Given the description of an element on the screen output the (x, y) to click on. 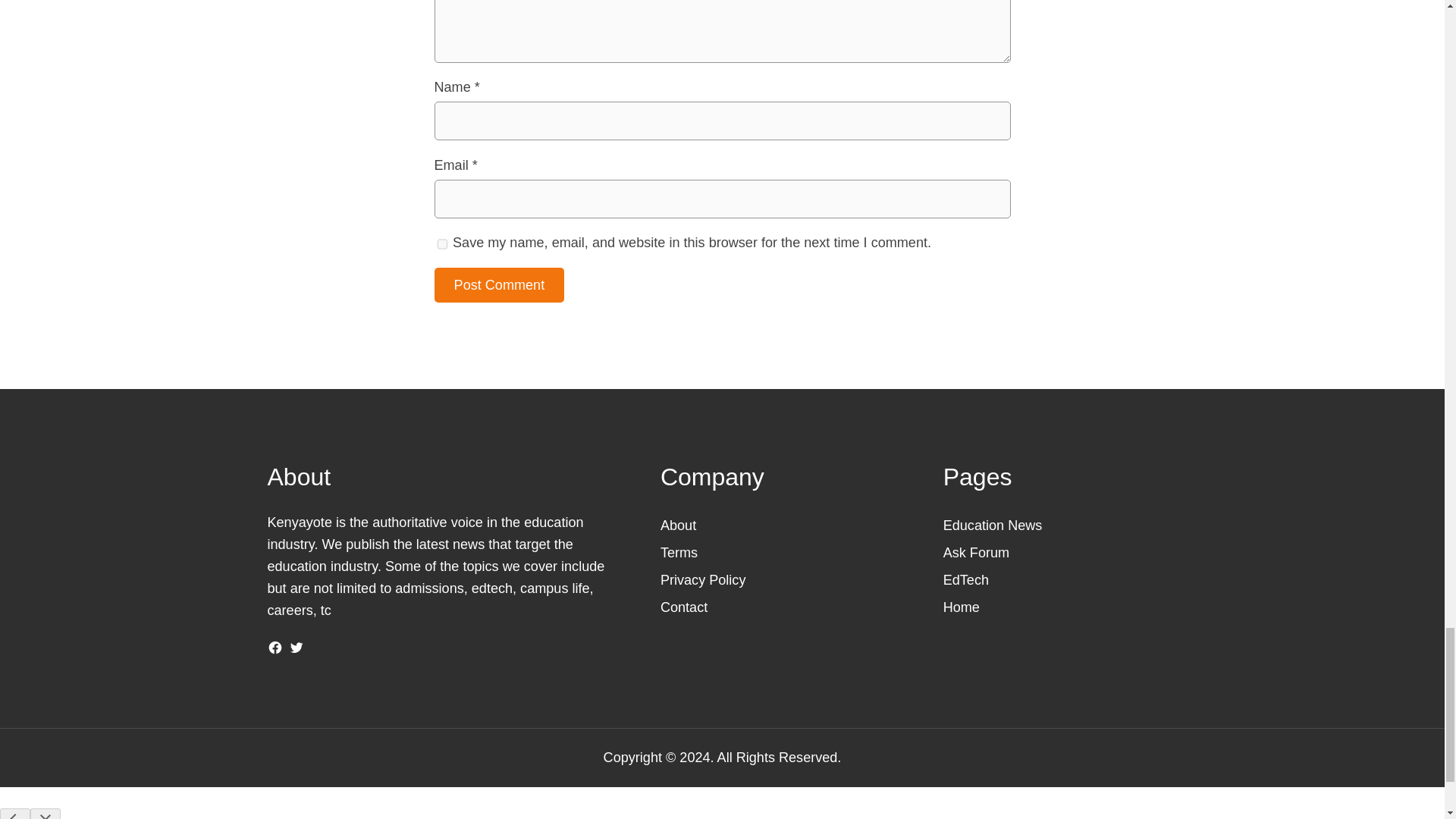
Contact (684, 607)
EdTech (965, 580)
Privacy Policy (703, 580)
Home (961, 607)
Post Comment (498, 284)
Terms (679, 552)
Education News (992, 525)
Post Comment (498, 284)
About (678, 525)
Ask Forum (976, 552)
Twitter (295, 647)
Facebook (274, 647)
